Given the description of an element on the screen output the (x, y) to click on. 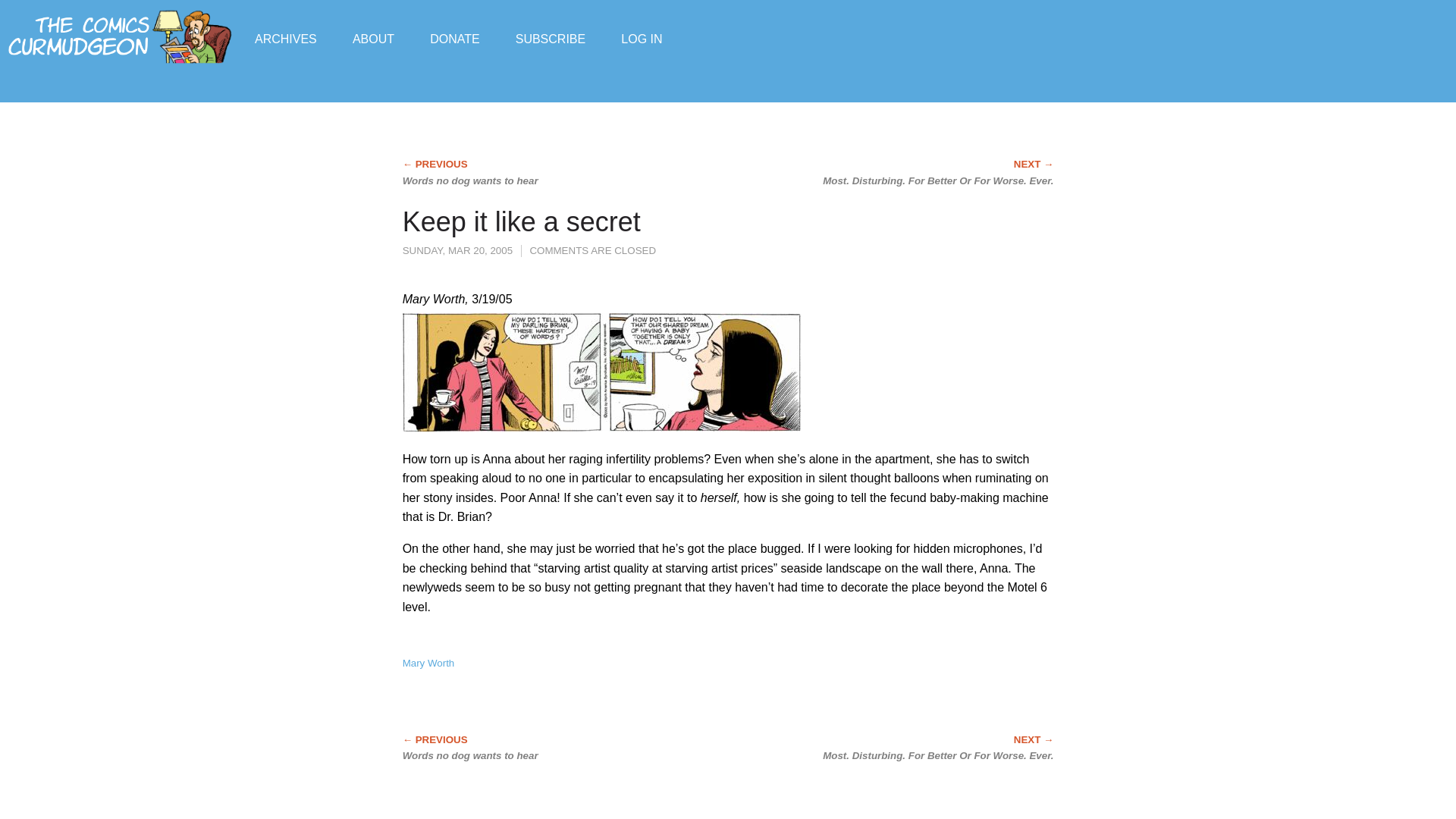
Keep it like a secret (521, 221)
DONATE (454, 38)
LOG IN (641, 38)
Most. Disturbing. For Better Or For Worse. Ever. (926, 747)
Most. Disturbing. For Better Or For Worse. Ever. (926, 172)
Mary Worth (428, 663)
Words no dog wants to hear (529, 172)
Words no dog wants to hear (529, 747)
ARCHIVES (285, 38)
ABOUT (373, 38)
